Given the description of an element on the screen output the (x, y) to click on. 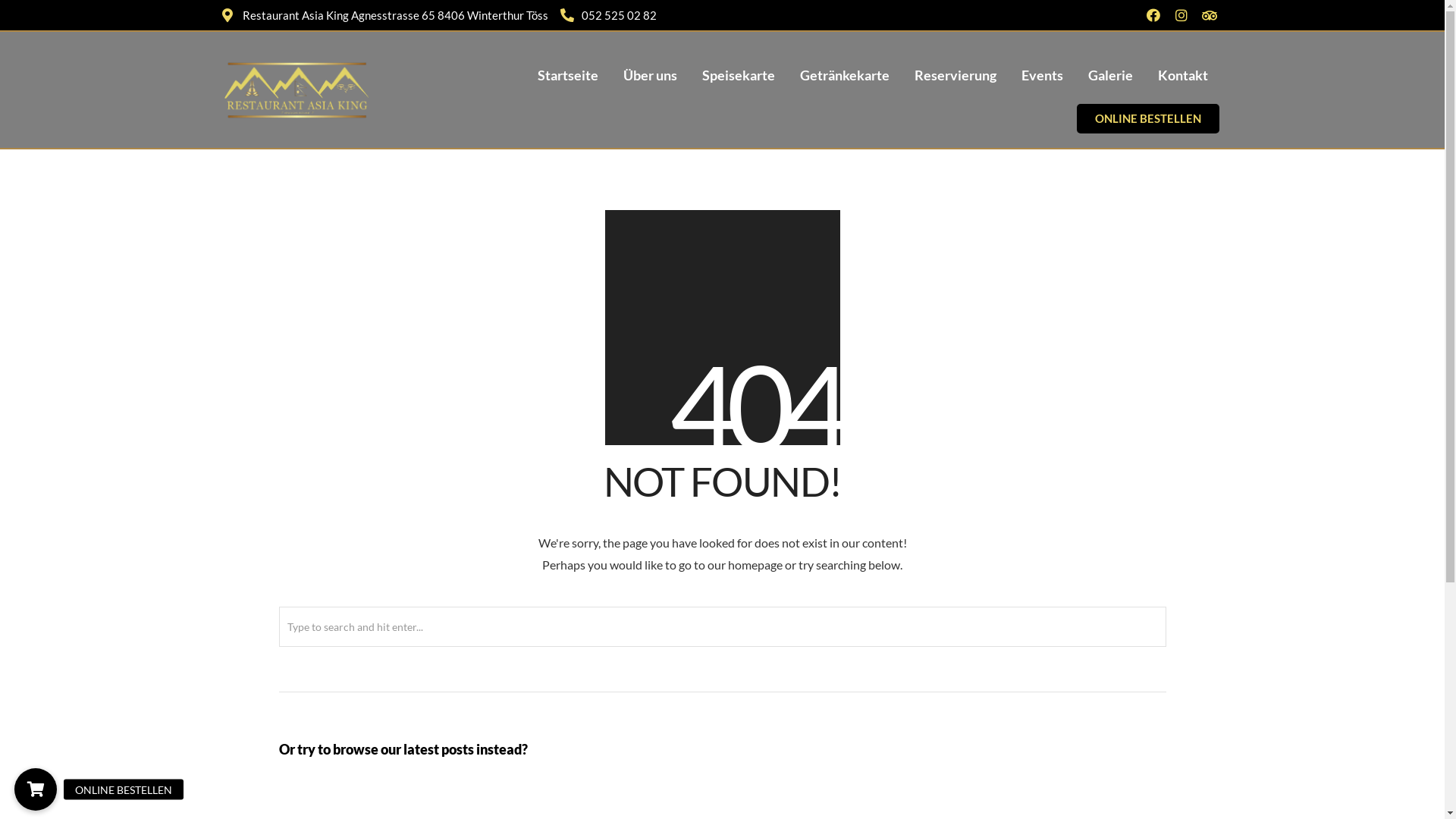
Kontakt Element type: text (1182, 74)
ONLINE BESTELLEN Element type: text (1147, 118)
Startseite Element type: text (567, 74)
Galerie Element type: text (1110, 74)
052 525 02 82 Element type: text (608, 14)
Events Element type: text (1041, 74)
ONLINE BESTELLEN Element type: text (35, 789)
Speisekarte Element type: text (738, 74)
Reservierung Element type: text (955, 74)
